Given the description of an element on the screen output the (x, y) to click on. 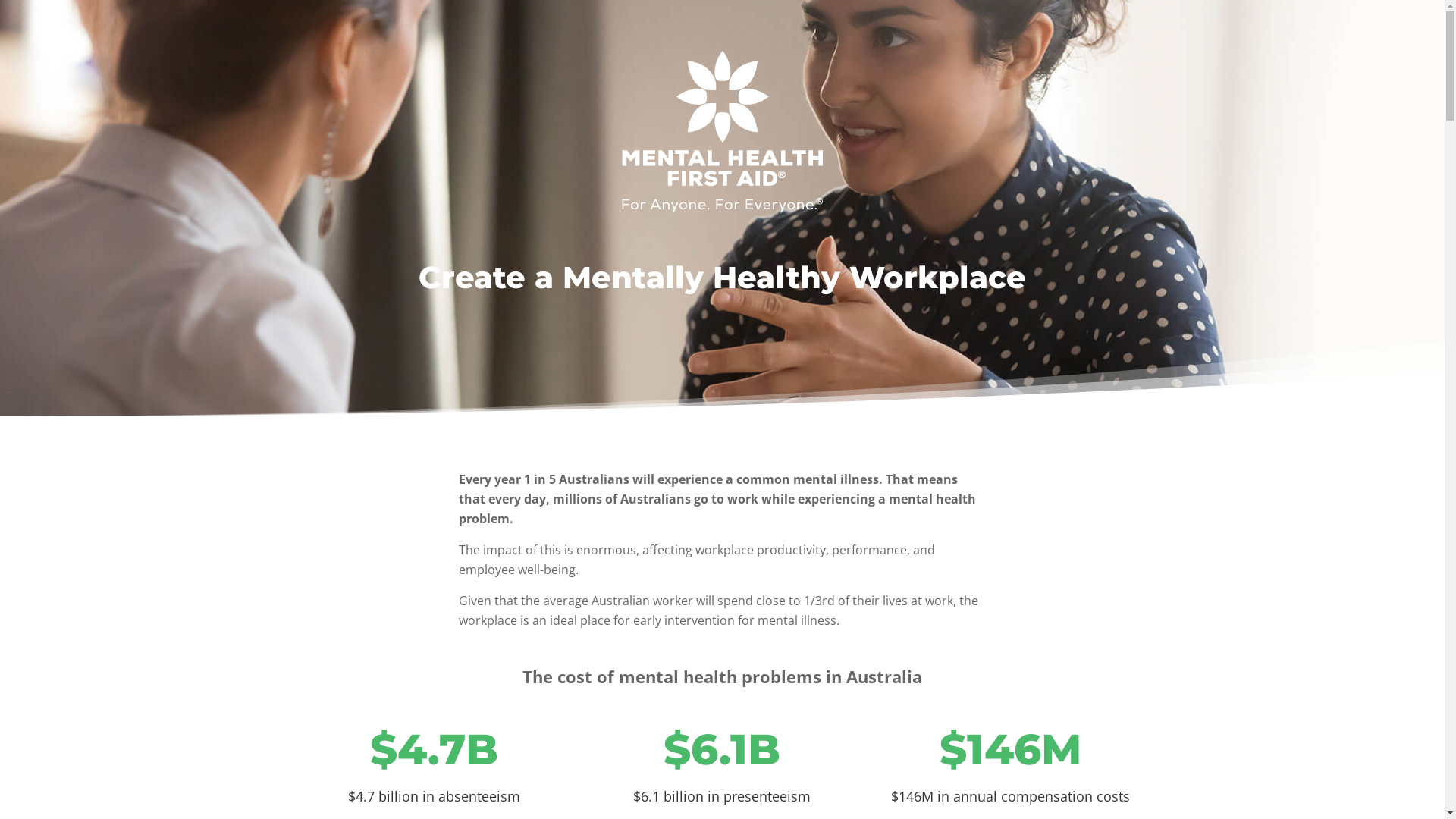
Corporate Primary Logo (with tagline) - White Element type: hover (721, 131)
